Given the description of an element on the screen output the (x, y) to click on. 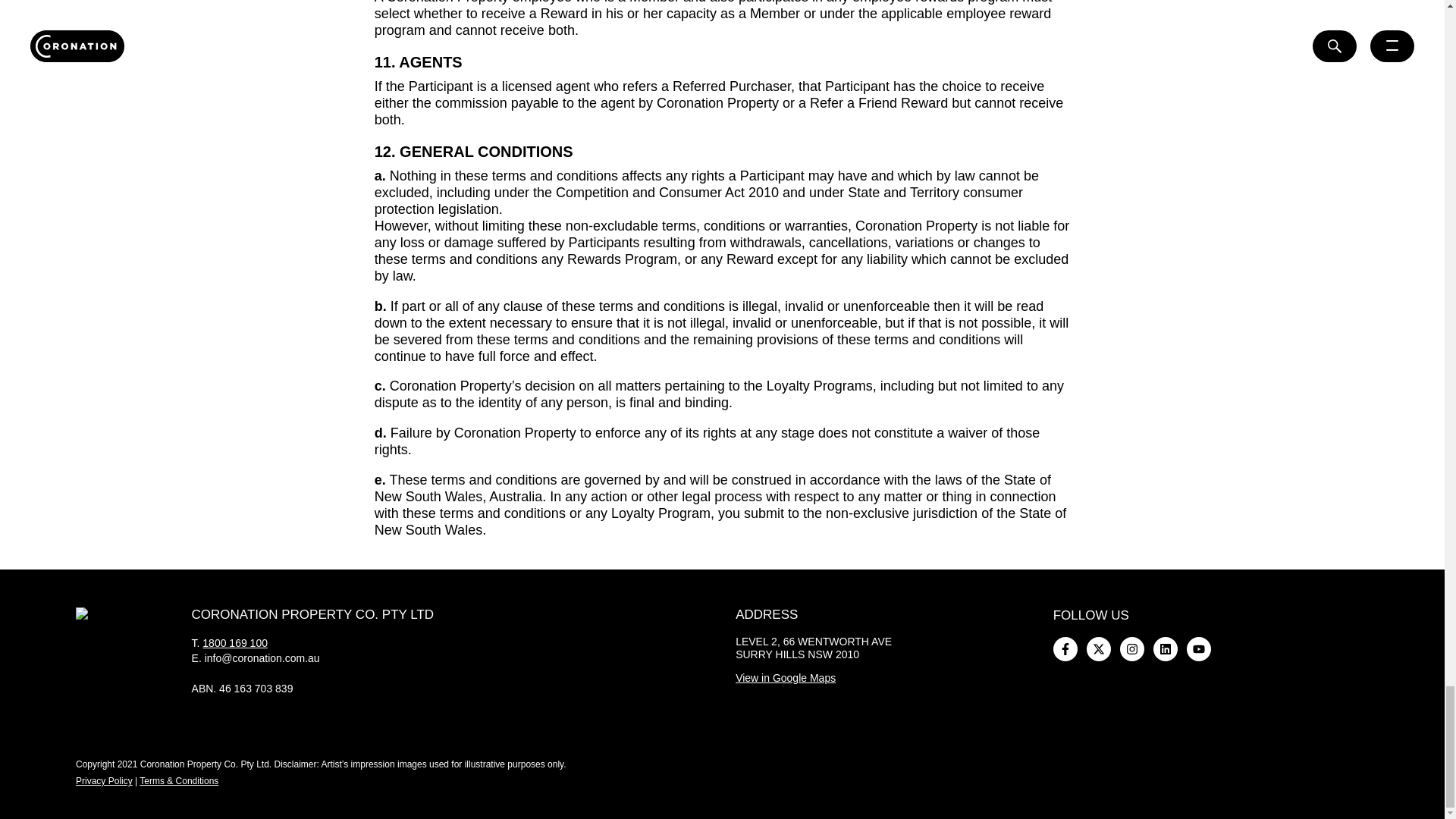
1800 169 100 (234, 643)
View in Google Maps (785, 677)
Privacy Policy (103, 780)
